Given the description of an element on the screen output the (x, y) to click on. 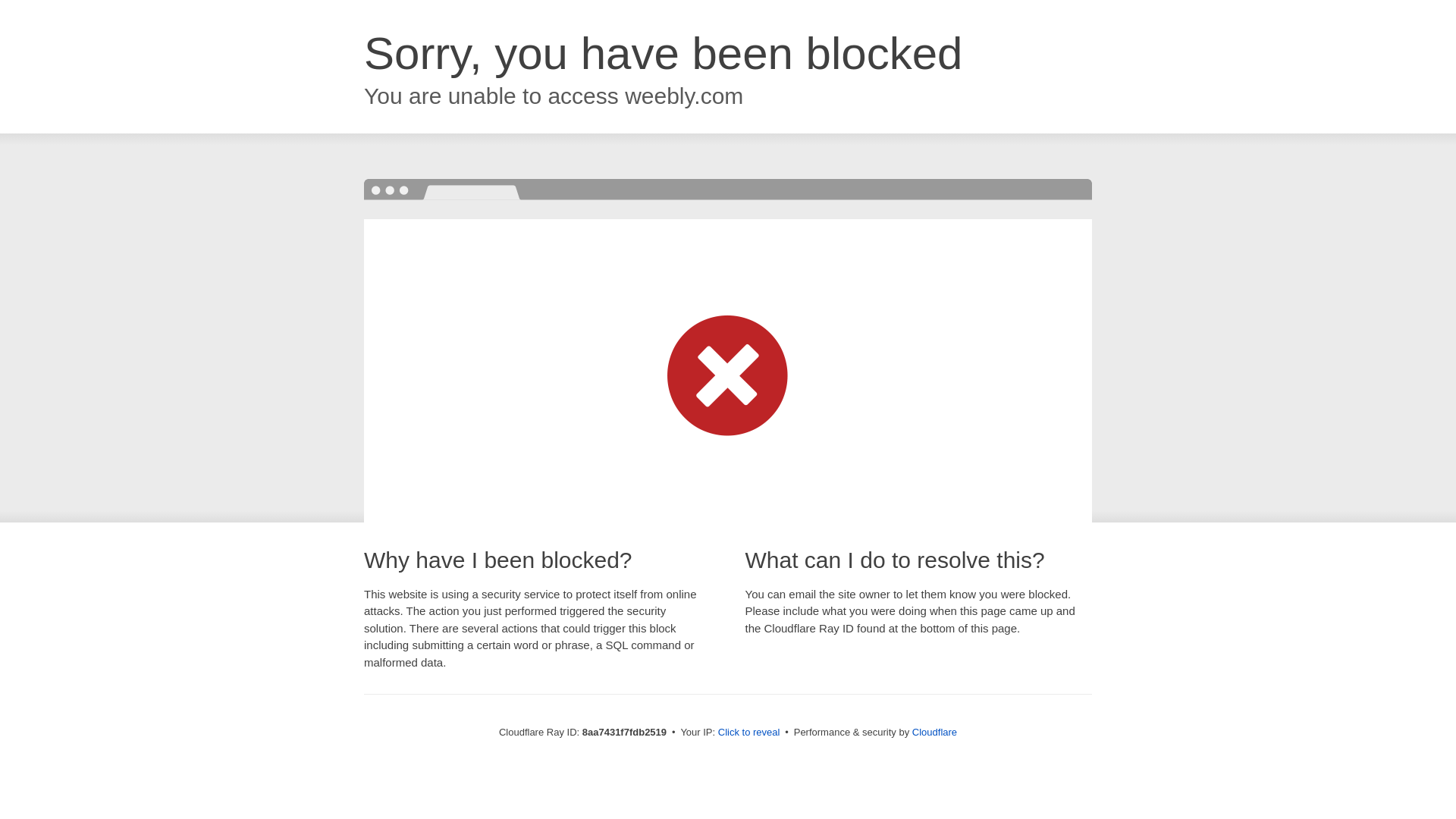
Click to reveal (748, 732)
Cloudflare (934, 731)
